Given the description of an element on the screen output the (x, y) to click on. 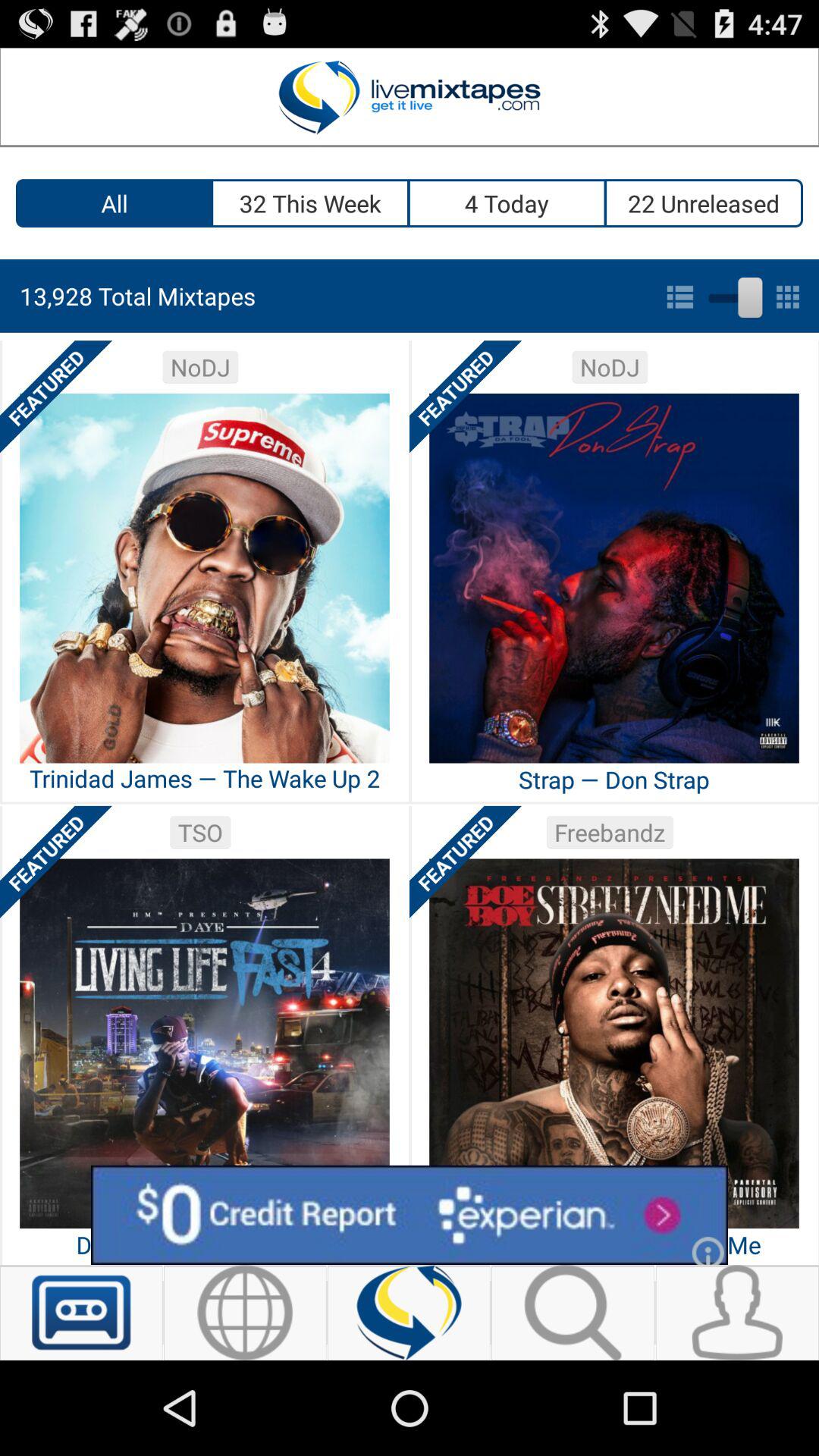
click the 4 today icon (507, 203)
